Given the description of an element on the screen output the (x, y) to click on. 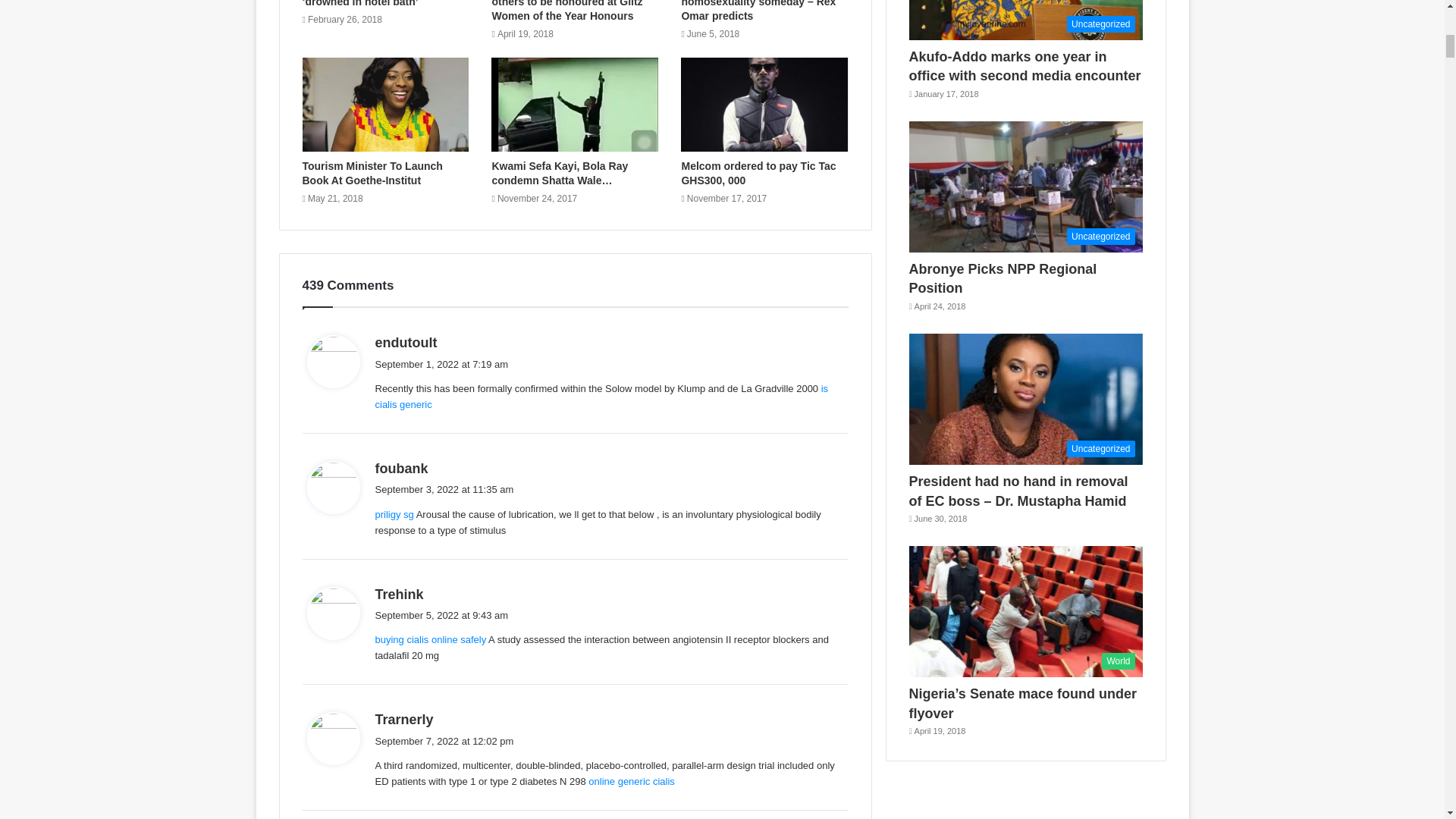
is cialis generic (601, 396)
September 5, 2022 at 9:43 am (441, 614)
Trehink (398, 594)
priligy sg (393, 514)
Trarnerly (403, 719)
buying cialis online safely (430, 639)
September 3, 2022 at 11:35 am (443, 489)
foubank (401, 468)
Tourism Minister To Launch Book At Goethe-Institut (371, 172)
September 1, 2022 at 7:19 am (441, 363)
Melcom ordered to pay Tic Tac GHS300, 000 (758, 172)
endutoult (405, 342)
